Given the description of an element on the screen output the (x, y) to click on. 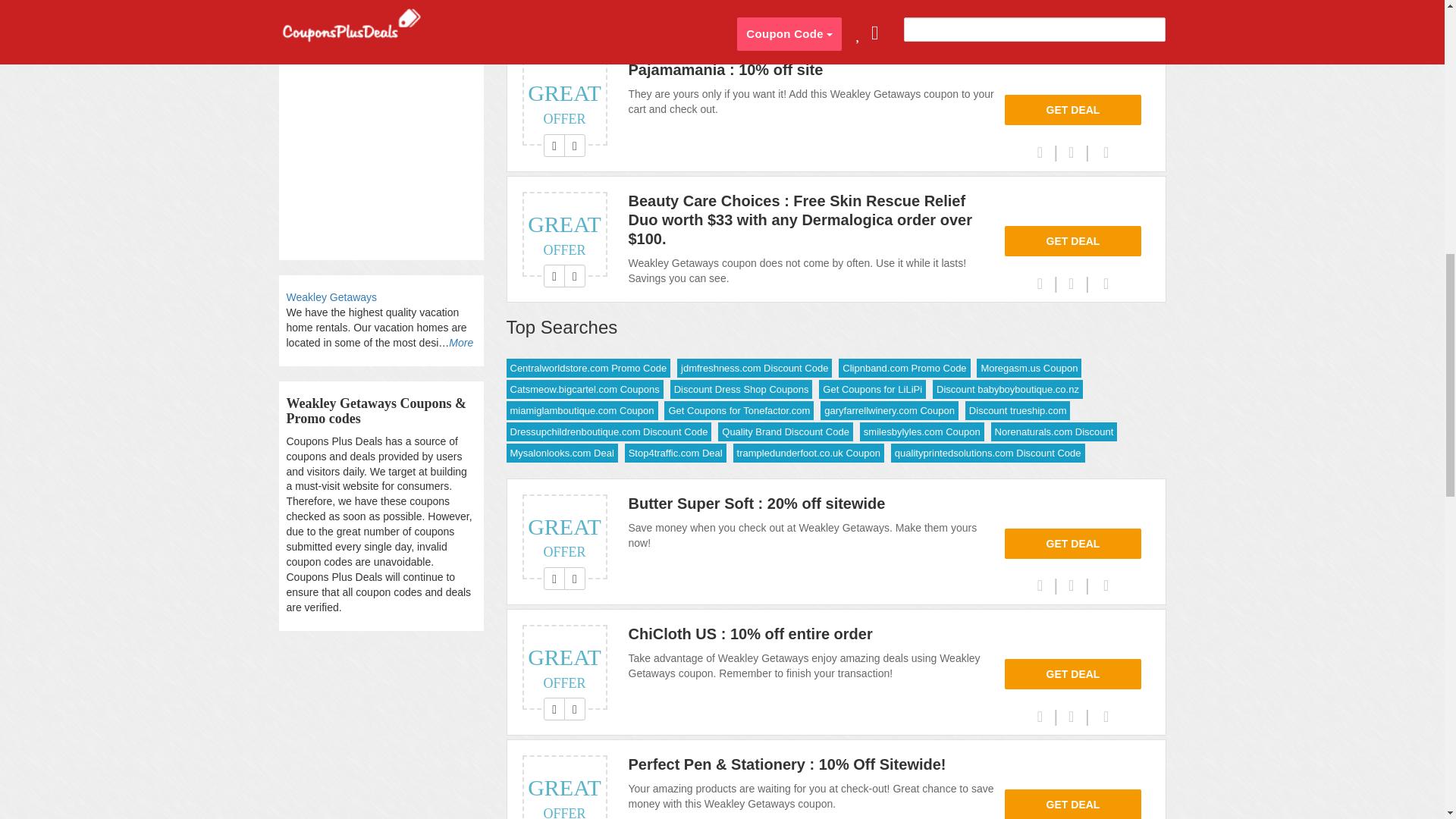
More (460, 342)
Weakley Getaways (331, 297)
Advertisement (381, 122)
